Given the description of an element on the screen output the (x, y) to click on. 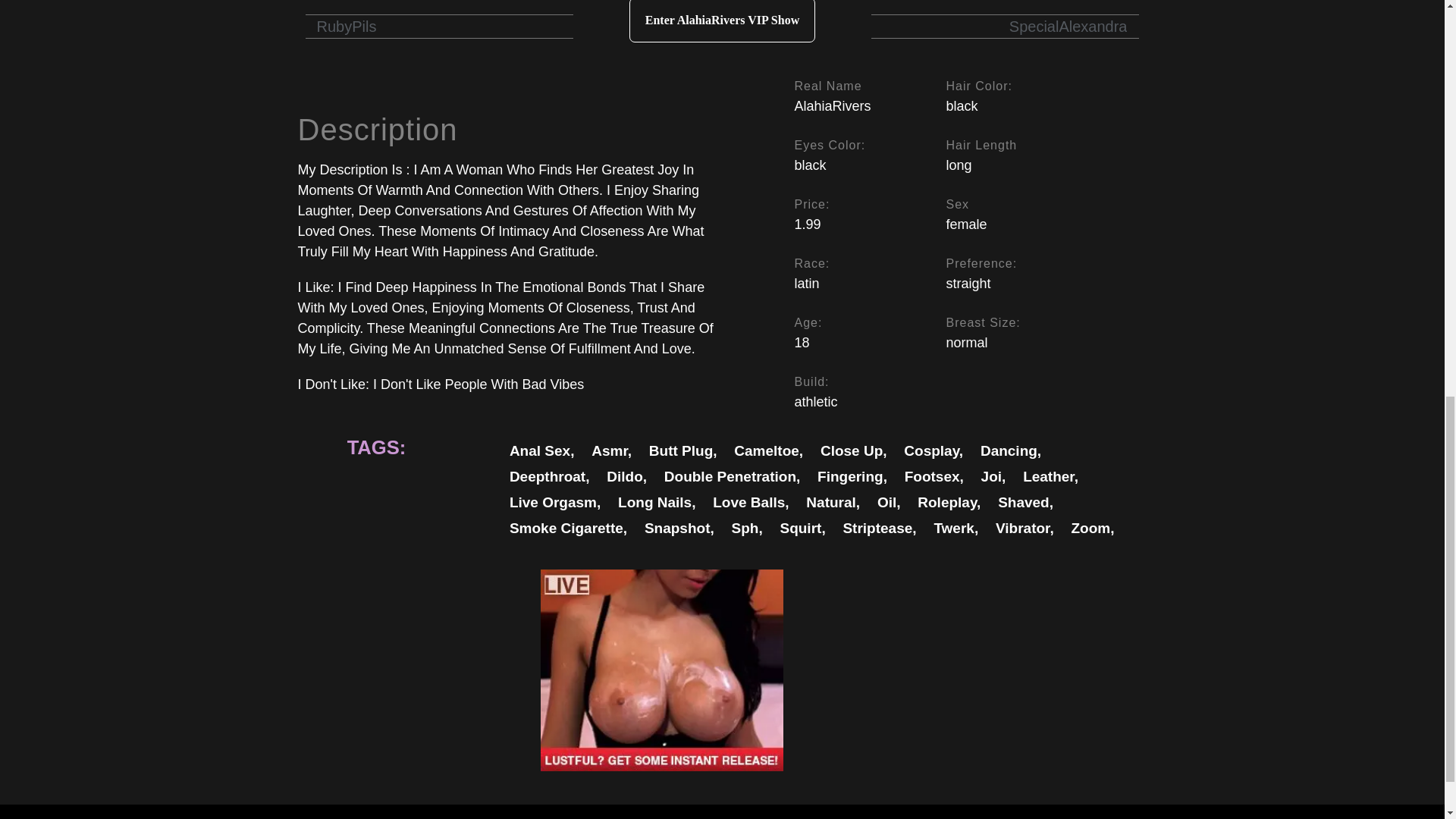
Anal Sex (542, 450)
RubyPils (371, 26)
Enter AlahiaRivers VIP Show (721, 21)
SpecialAlexandra (1071, 26)
